Given the description of an element on the screen output the (x, y) to click on. 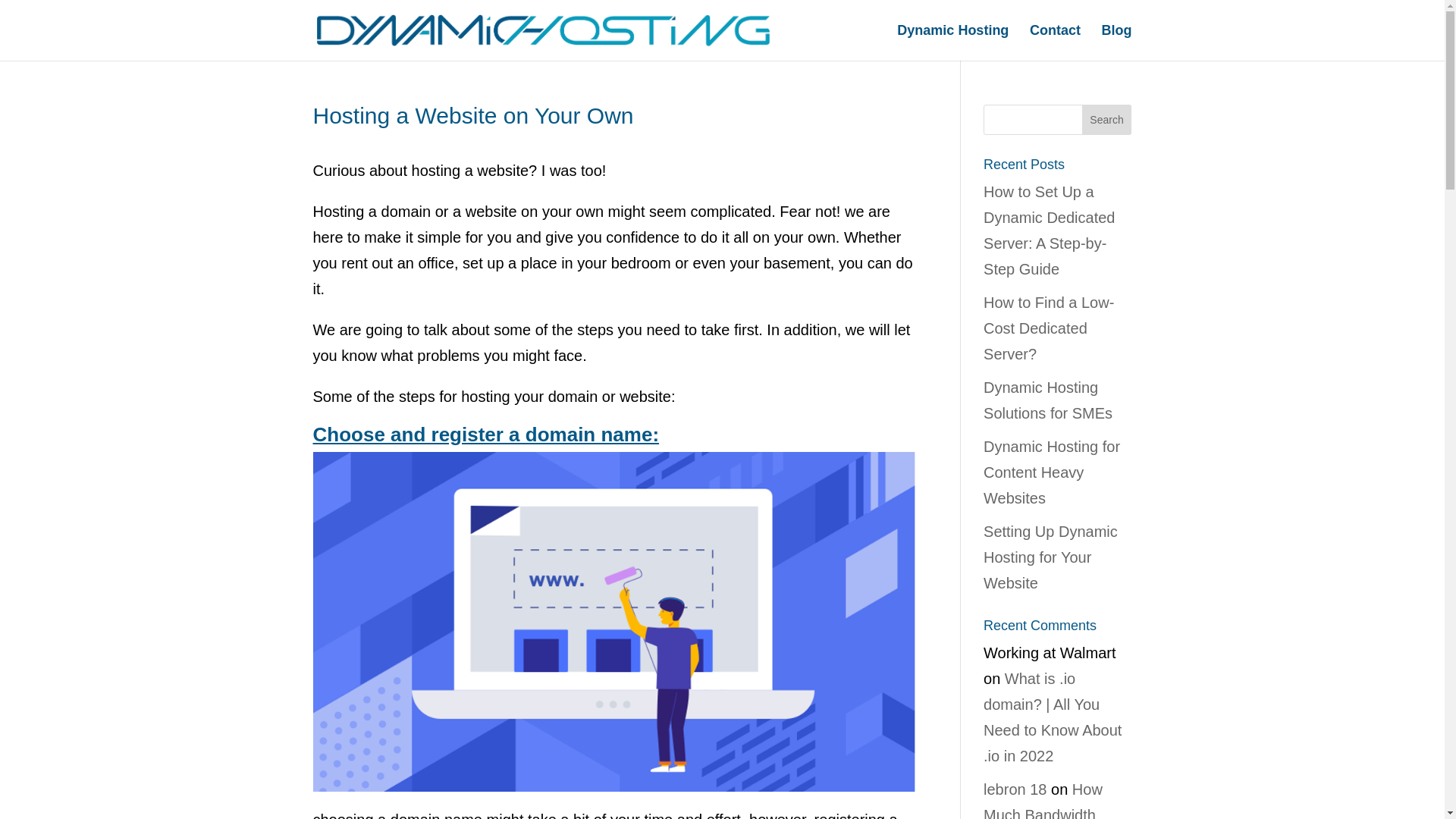
lebron 18 (1015, 789)
How to Find a Low-Cost Dedicated Server? (1048, 328)
Dynamic Hosting Solutions for SMEs (1048, 400)
Dynamic Hosting (952, 42)
Dynamic Hosting for Content Heavy Websites (1051, 472)
Contact (1054, 42)
How Much Bandwidth Does Your Website Need? (1048, 800)
Search (1106, 119)
Setting Up Dynamic Hosting for Your Website (1051, 557)
Search (1106, 119)
